Given the description of an element on the screen output the (x, y) to click on. 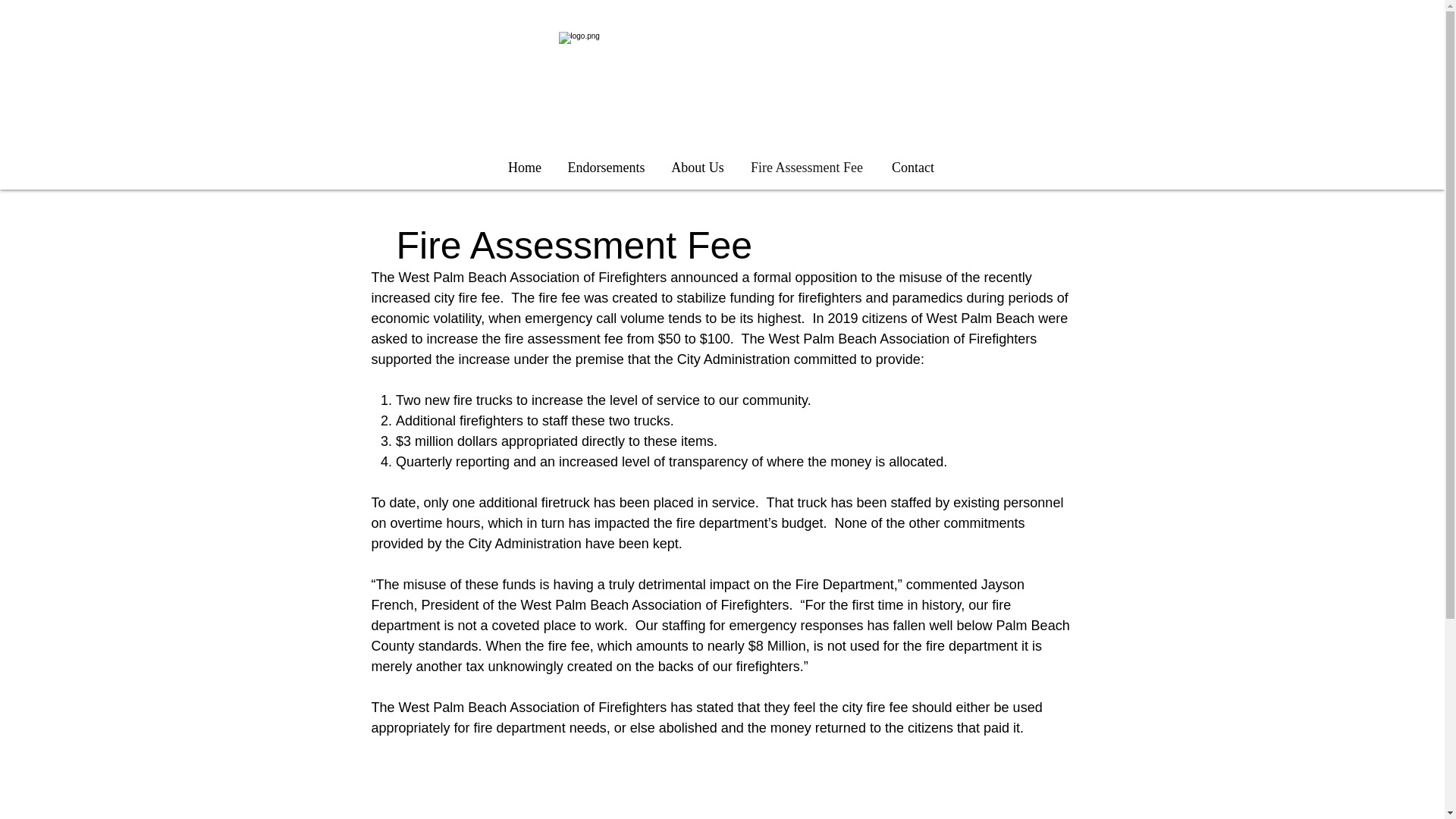
About Us (698, 167)
Endorsements (606, 167)
Contact (913, 167)
Home (524, 167)
Fire Assessment Fee (807, 167)
